Given the description of an element on the screen output the (x, y) to click on. 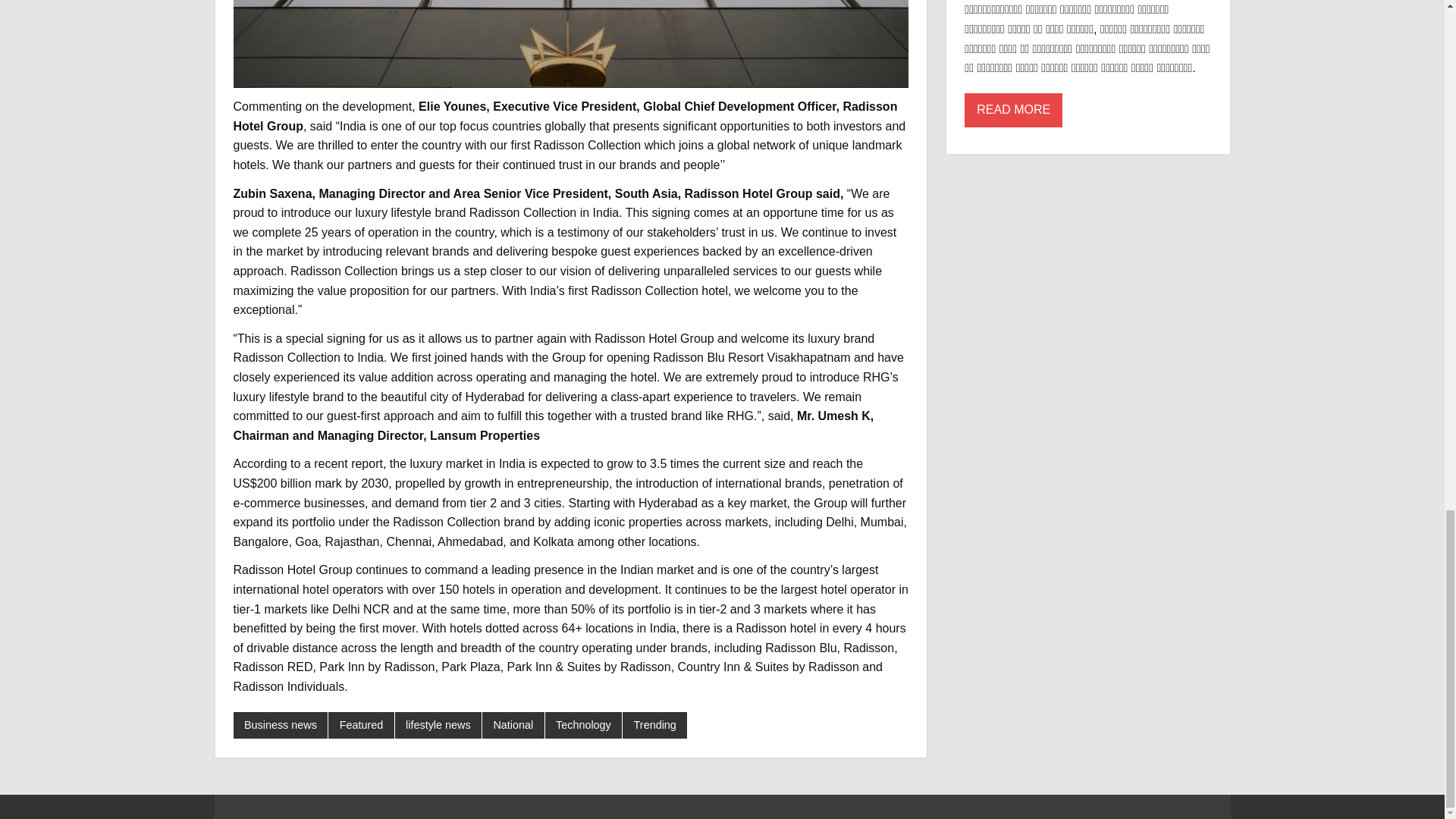
lifestyle news (437, 724)
Trending (655, 724)
National (512, 724)
READ MORE (1012, 110)
Technology (583, 724)
Featured (361, 724)
Business news (280, 724)
